Given the description of an element on the screen output the (x, y) to click on. 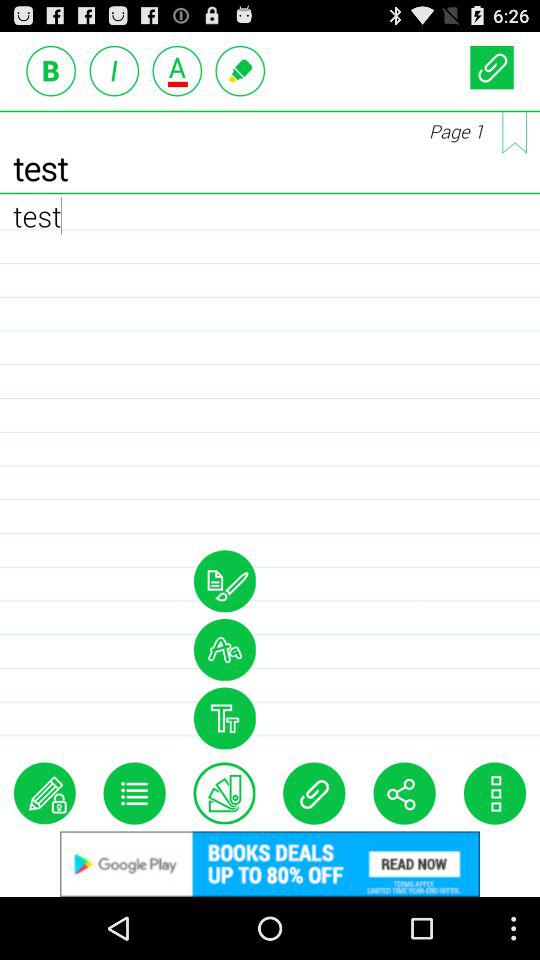
menu (494, 793)
